Given the description of an element on the screen output the (x, y) to click on. 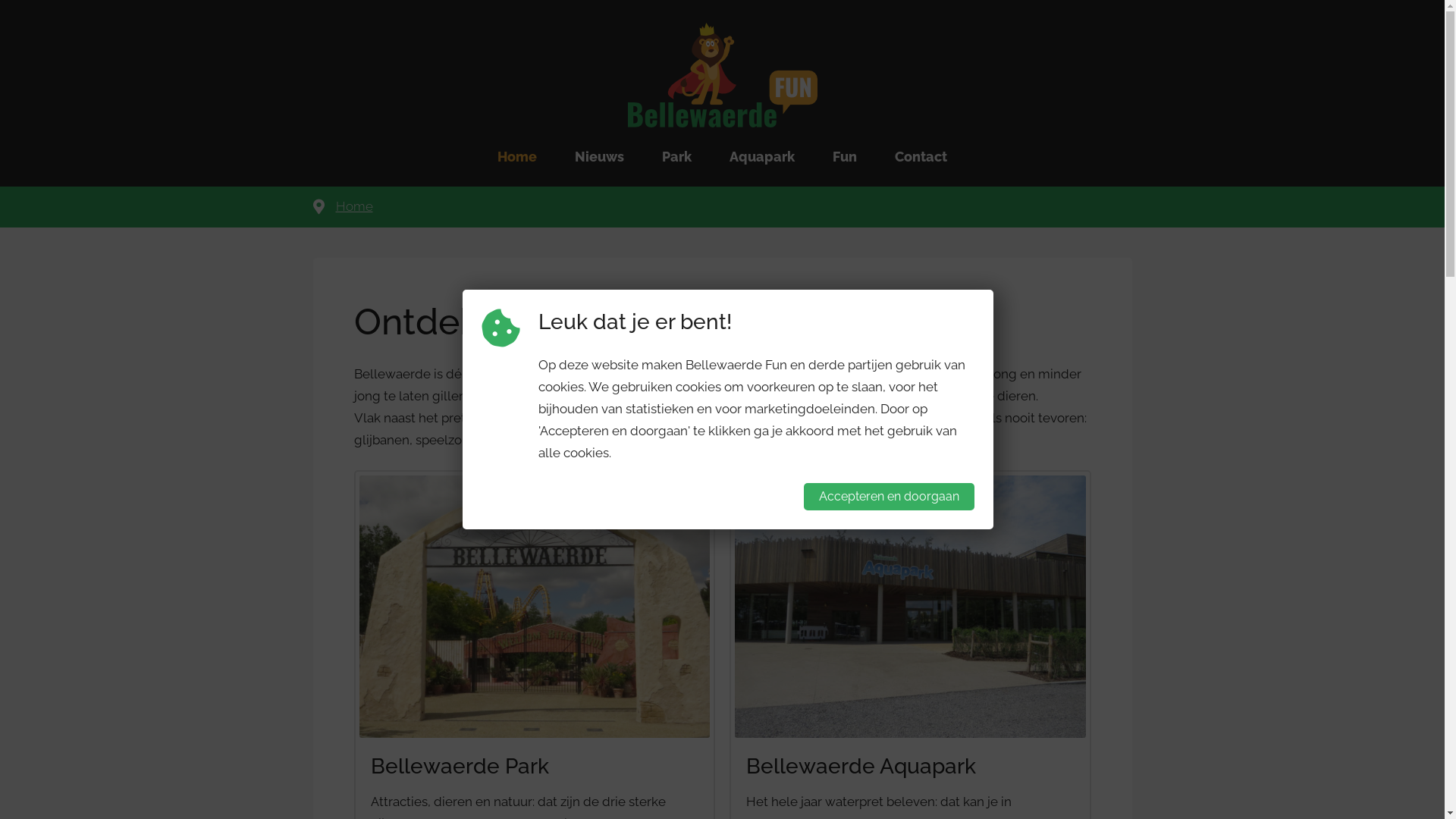
Bellewaerde Fun Element type: hover (722, 74)
Nieuws Element type: text (599, 156)
Bellewaerde Park Element type: text (459, 765)
Park Element type: text (676, 156)
Contact Element type: text (920, 156)
Bellewaerde Aquapark Element type: hover (909, 606)
Accepteren en doorgaan Element type: text (888, 496)
Aquapark Element type: text (761, 156)
Bellewaerde Park Element type: hover (534, 606)
Fun Element type: text (844, 156)
Home Element type: text (353, 206)
Bellewaerde Aquapark Element type: text (860, 765)
Home Element type: text (516, 156)
